Given the description of an element on the screen output the (x, y) to click on. 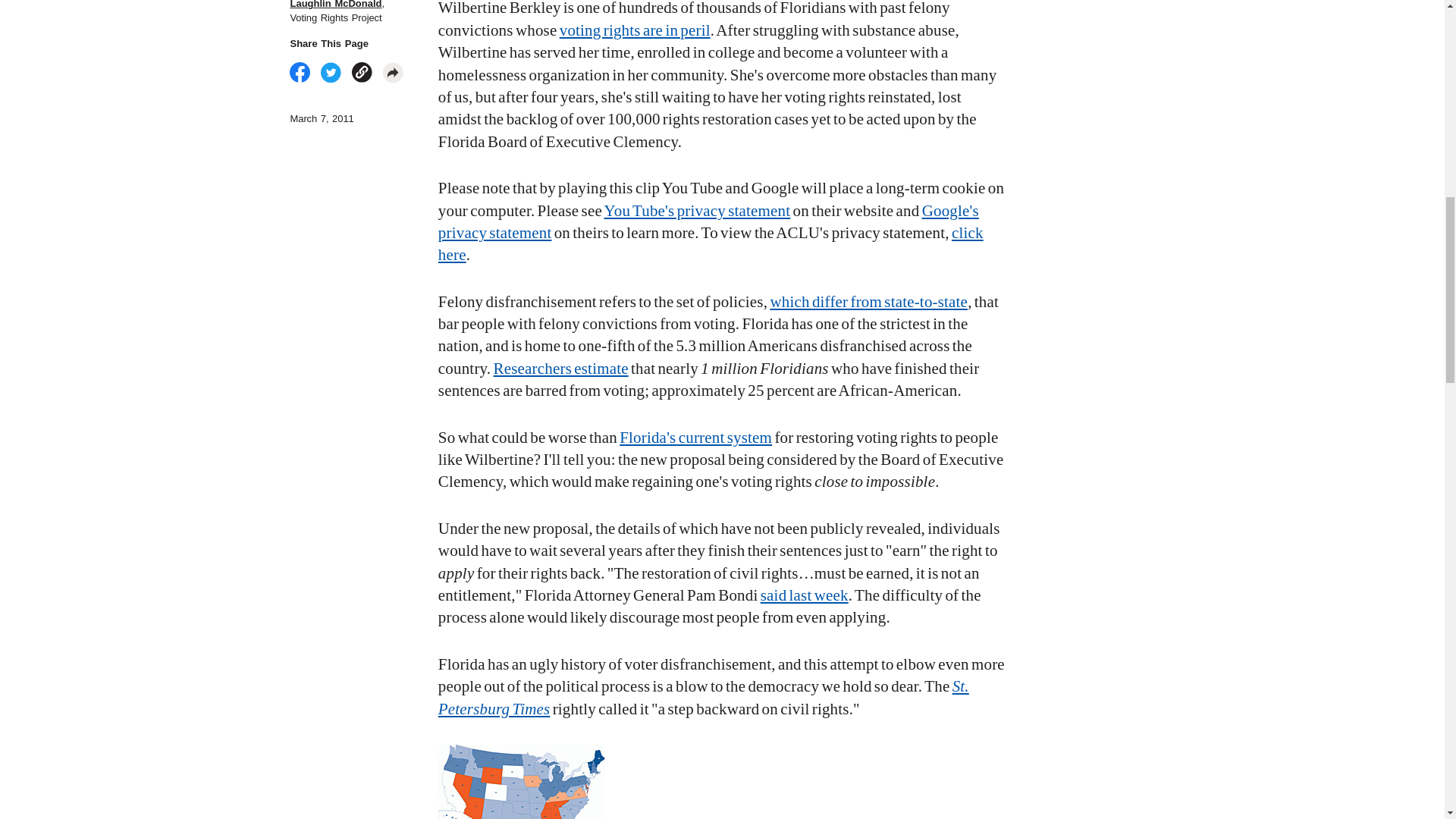
Share on Facebook (299, 72)
Copy (362, 72)
Tweet (330, 72)
